Given the description of an element on the screen output the (x, y) to click on. 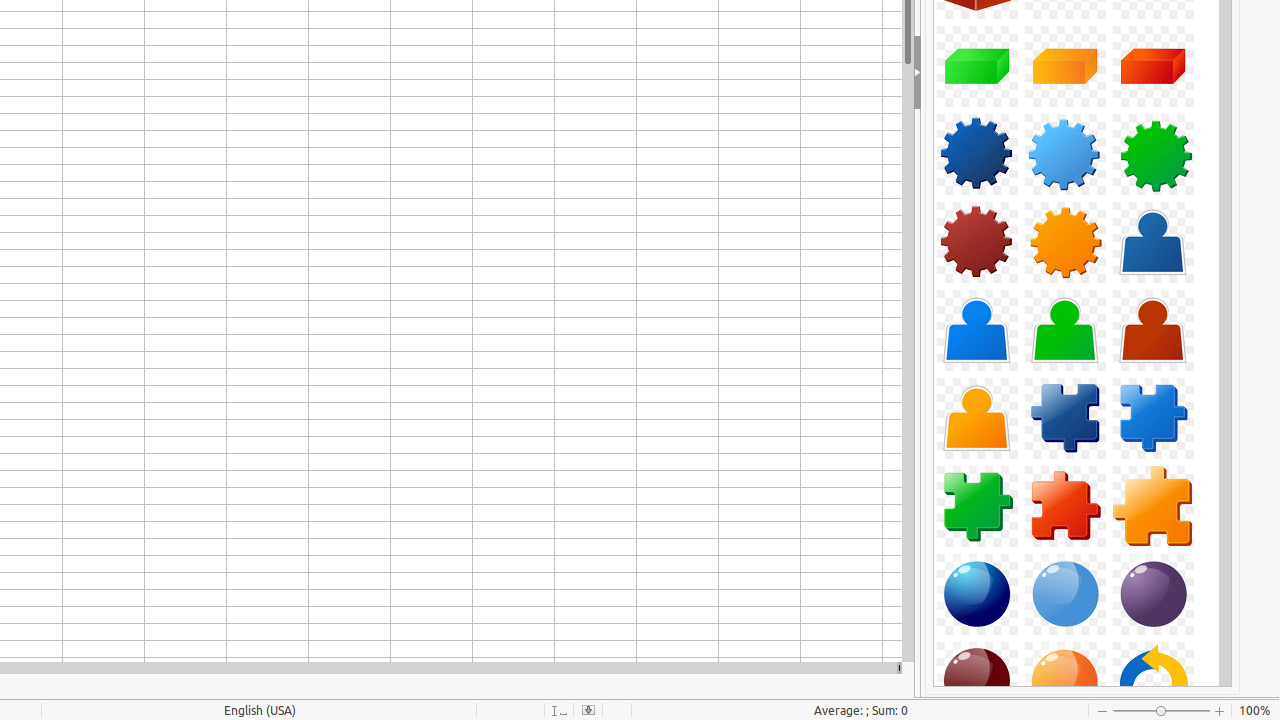
Component-Person04-DarkRed Element type: list-item (1153, 330)
Component-PuzzlePiece05-Orange Element type: list-item (1153, 506)
Component-Person02-Blue Element type: list-item (977, 330)
Component-Person01-DarkBlue Element type: list-item (1153, 242)
Component-Cuboid05-Red Element type: list-item (1153, 65)
